Given the description of an element on the screen output the (x, y) to click on. 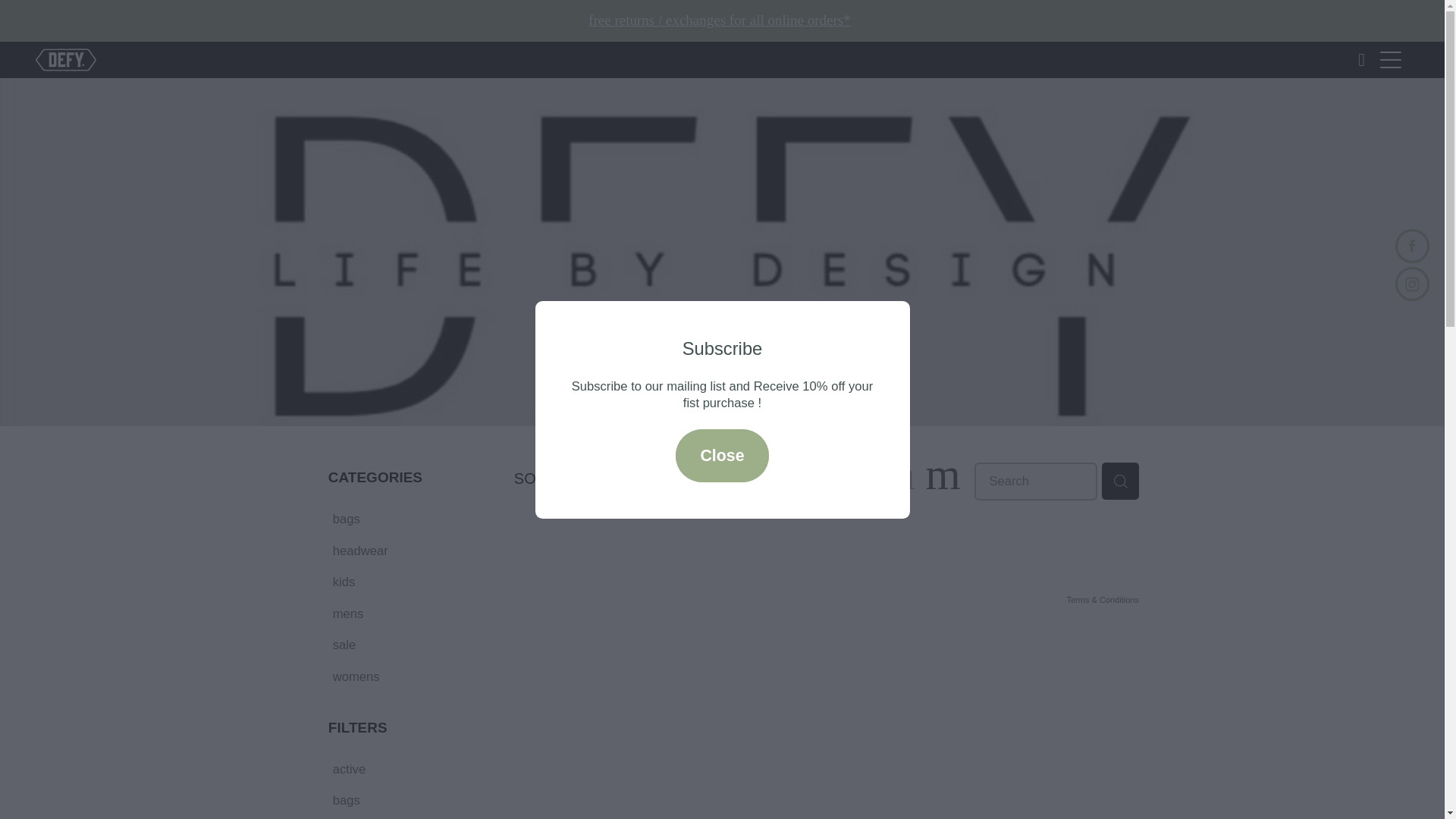
A link to this website's Facebook. (1411, 245)
A link to this website's Instagram. (1411, 283)
mens (411, 612)
womens (411, 676)
kids (411, 581)
headwear (411, 549)
bags (411, 799)
active (411, 768)
sale (411, 644)
bags (411, 518)
